Given the description of an element on the screen output the (x, y) to click on. 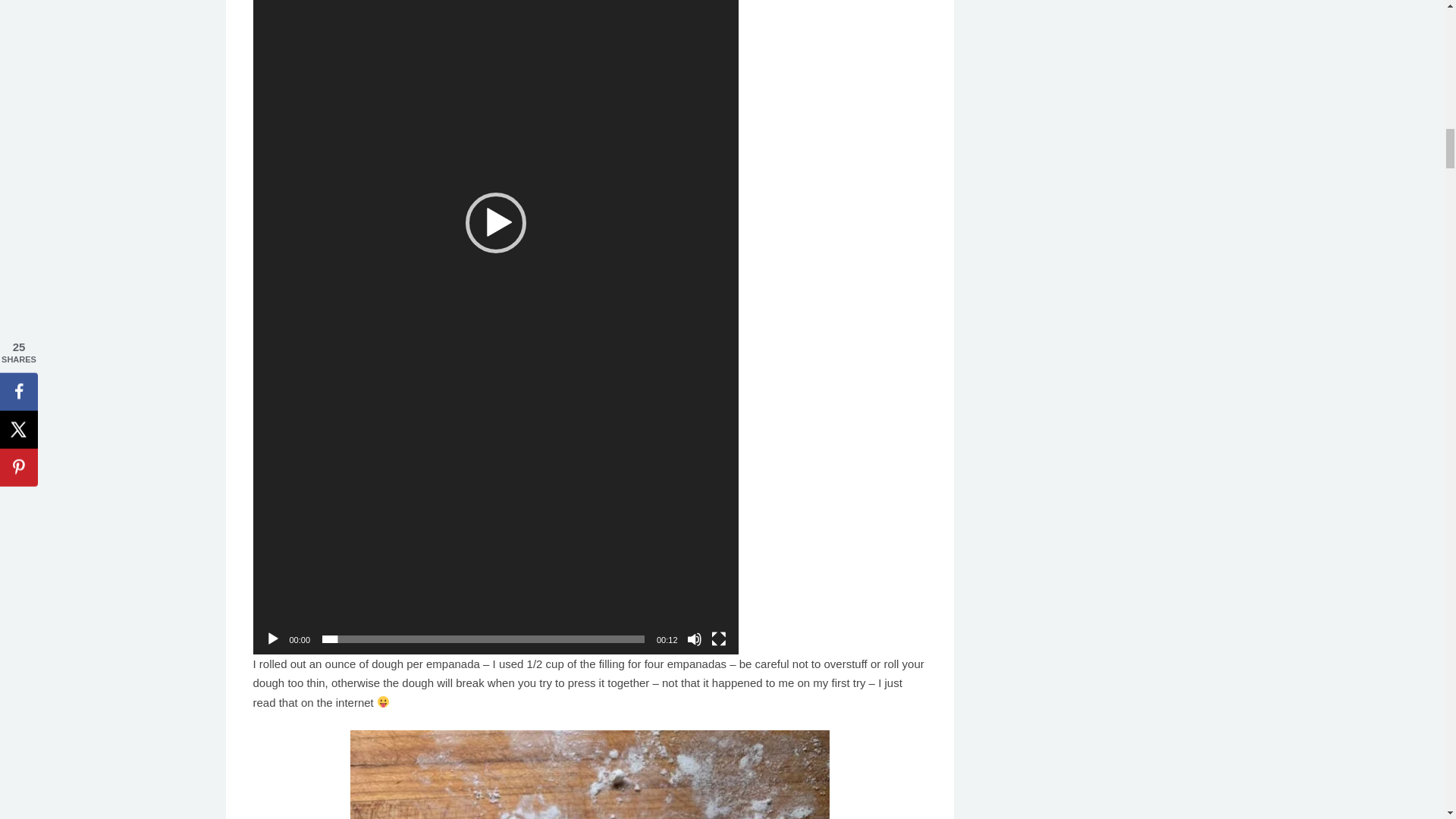
Mute (694, 639)
Fullscreen (718, 639)
Play (272, 639)
